Given the description of an element on the screen output the (x, y) to click on. 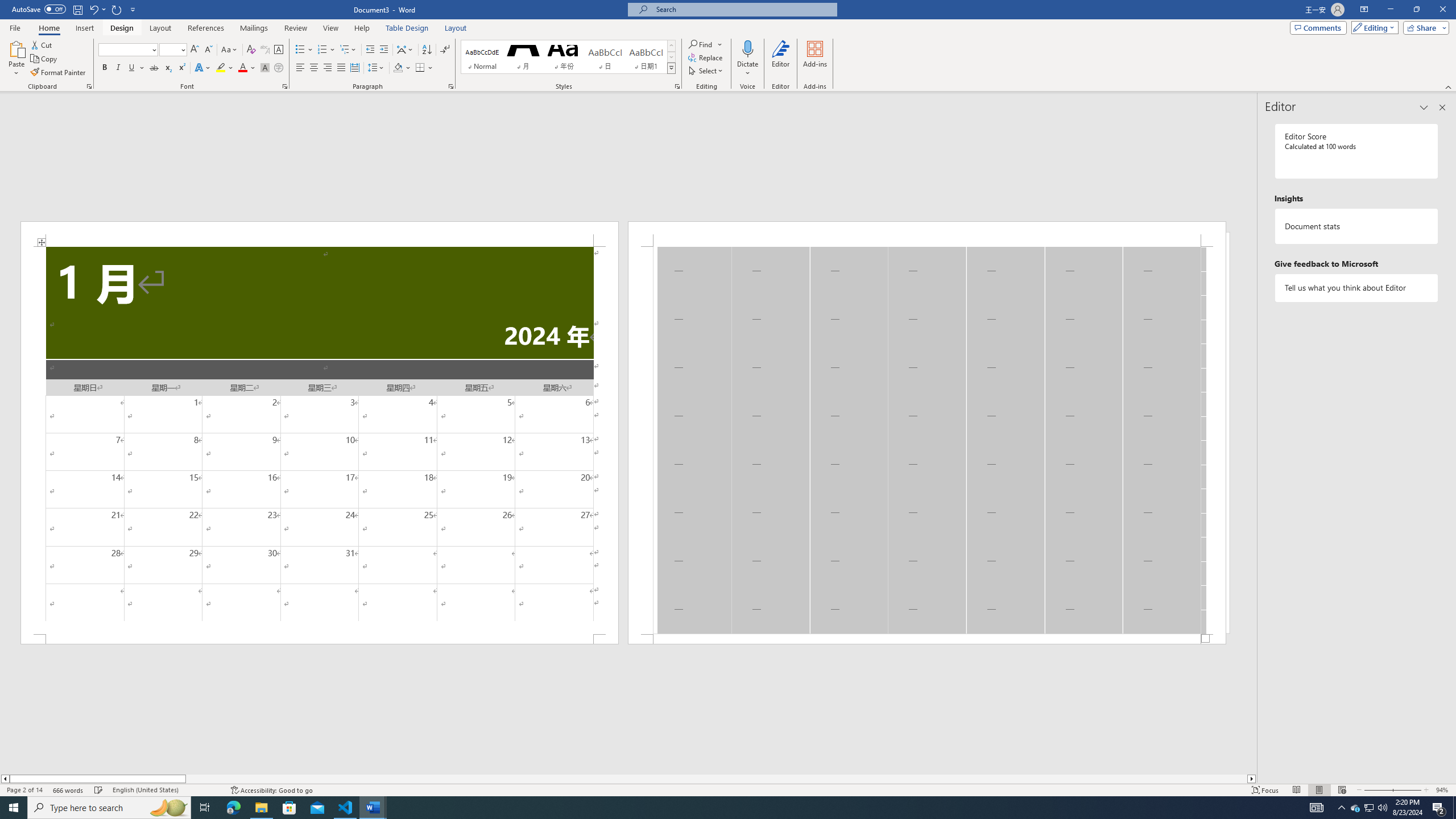
Page Number Page 2 of 14 (24, 790)
